Given the description of an element on the screen output the (x, y) to click on. 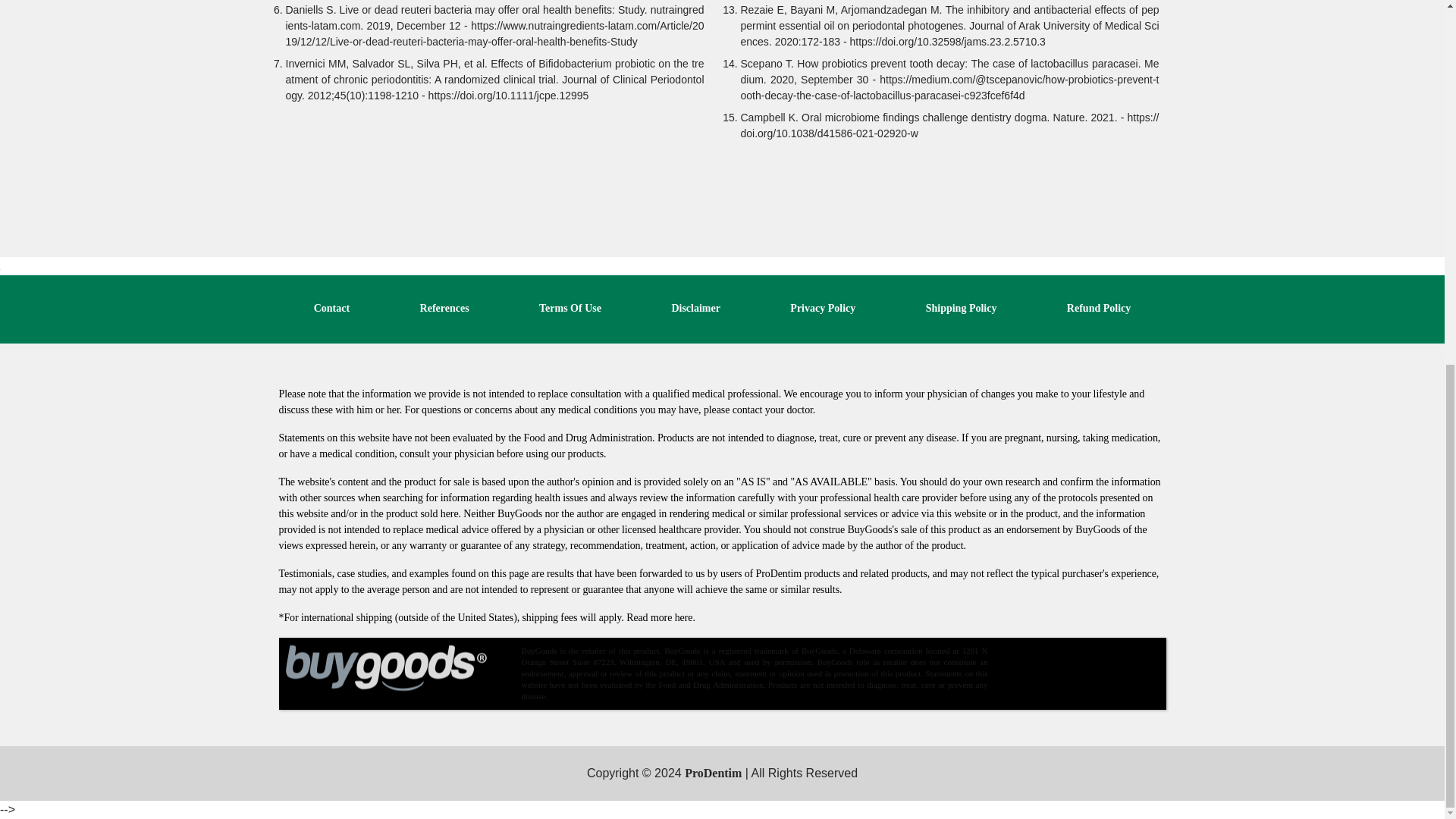
Shipping Policy (961, 307)
Privacy Policy (823, 307)
References (444, 307)
Terms Of Use (569, 307)
Read more here (659, 617)
Contact (331, 307)
Refund Policy (1099, 307)
Disclaimer (695, 307)
